Given the description of an element on the screen output the (x, y) to click on. 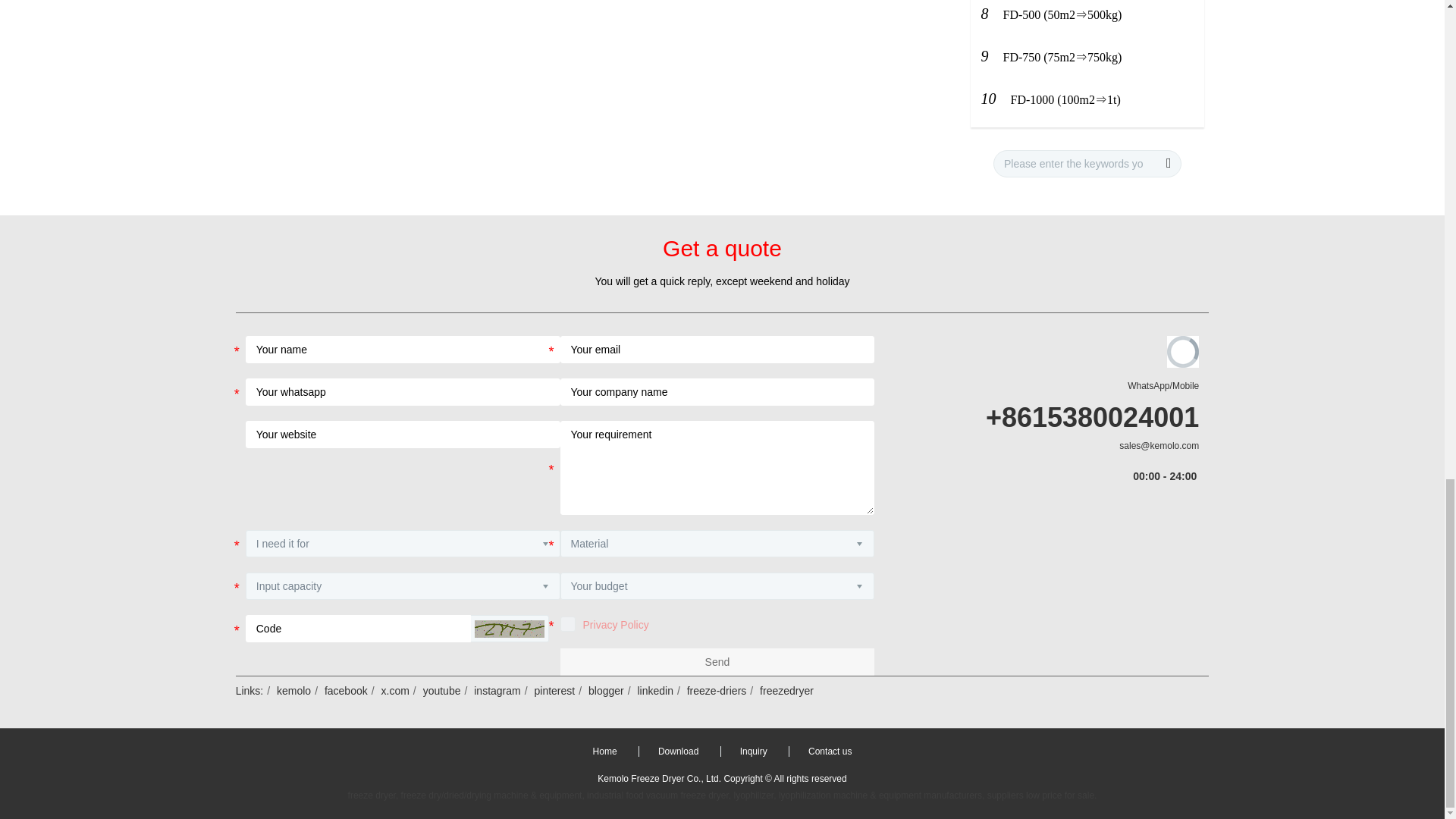
kemolo (293, 690)
Send (717, 661)
Privacy Policy (616, 624)
